Given the description of an element on the screen output the (x, y) to click on. 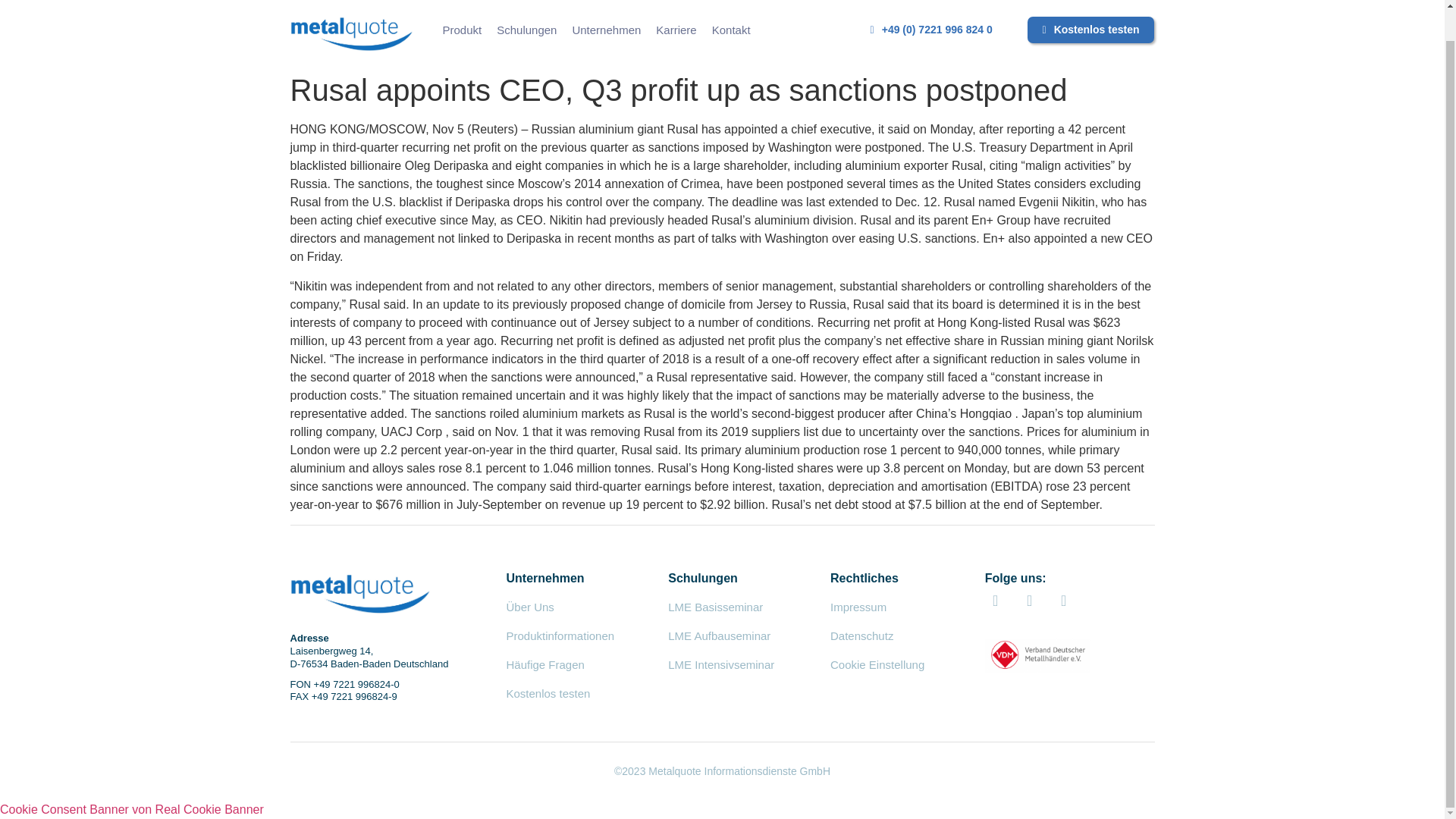
LME Basisseminar (715, 606)
Produktinformationen (560, 635)
Produkt (462, 30)
LME Intensivseminar (721, 664)
Cookie Einstellung (876, 664)
Impressum (857, 606)
Kostenlos testen (548, 693)
Kostenlos testen (1090, 29)
Datenschutz (861, 635)
Schulungen (526, 30)
